Given the description of an element on the screen output the (x, y) to click on. 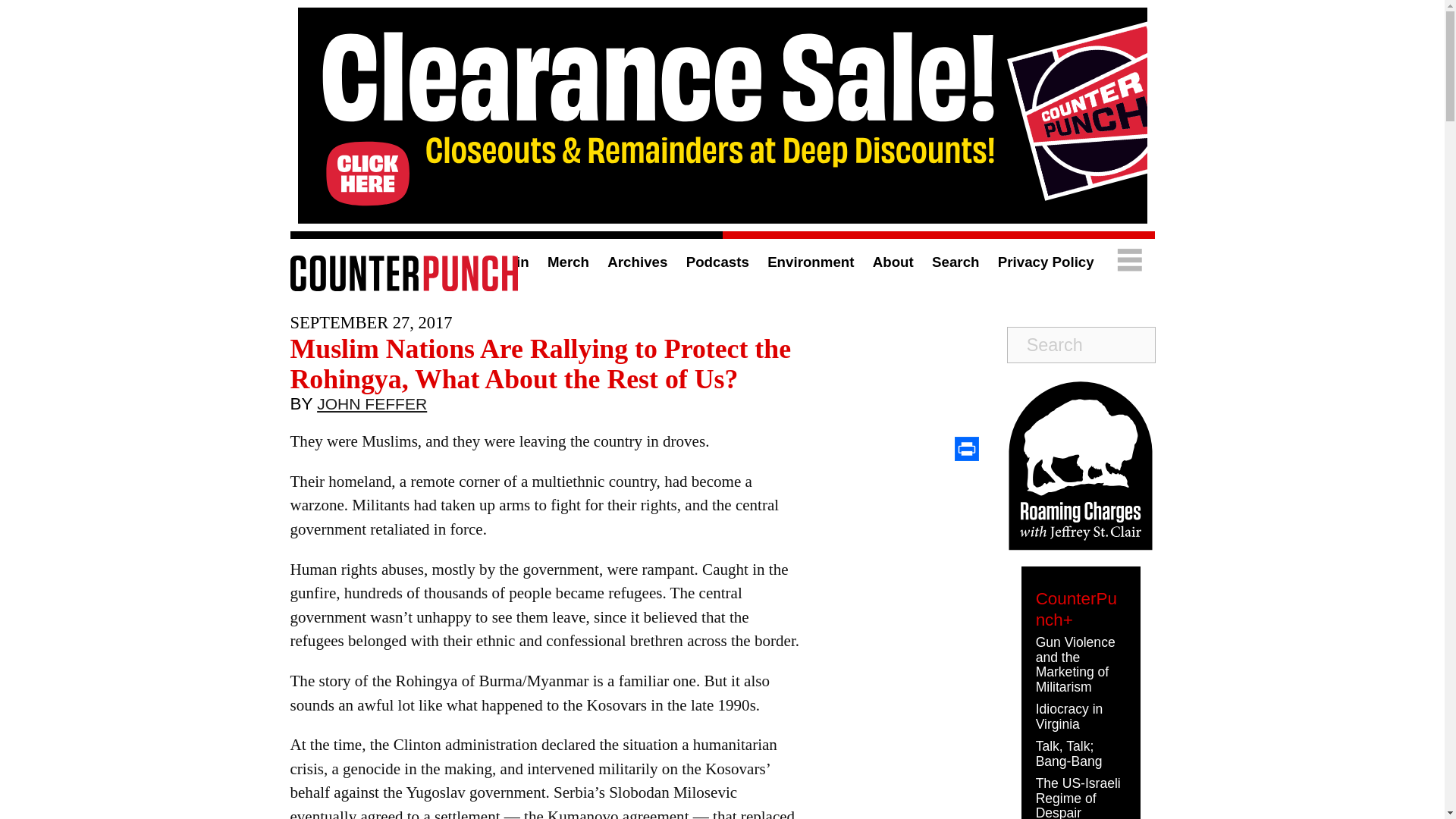
Print This Post (966, 448)
Merch (568, 261)
About (893, 261)
Privacy Policy (1045, 261)
Environment (810, 261)
Archives (636, 261)
Podcasts (717, 261)
2017-09-27 (370, 322)
Search (954, 261)
Login (509, 261)
JOHN FEFFER (371, 407)
